Given the description of an element on the screen output the (x, y) to click on. 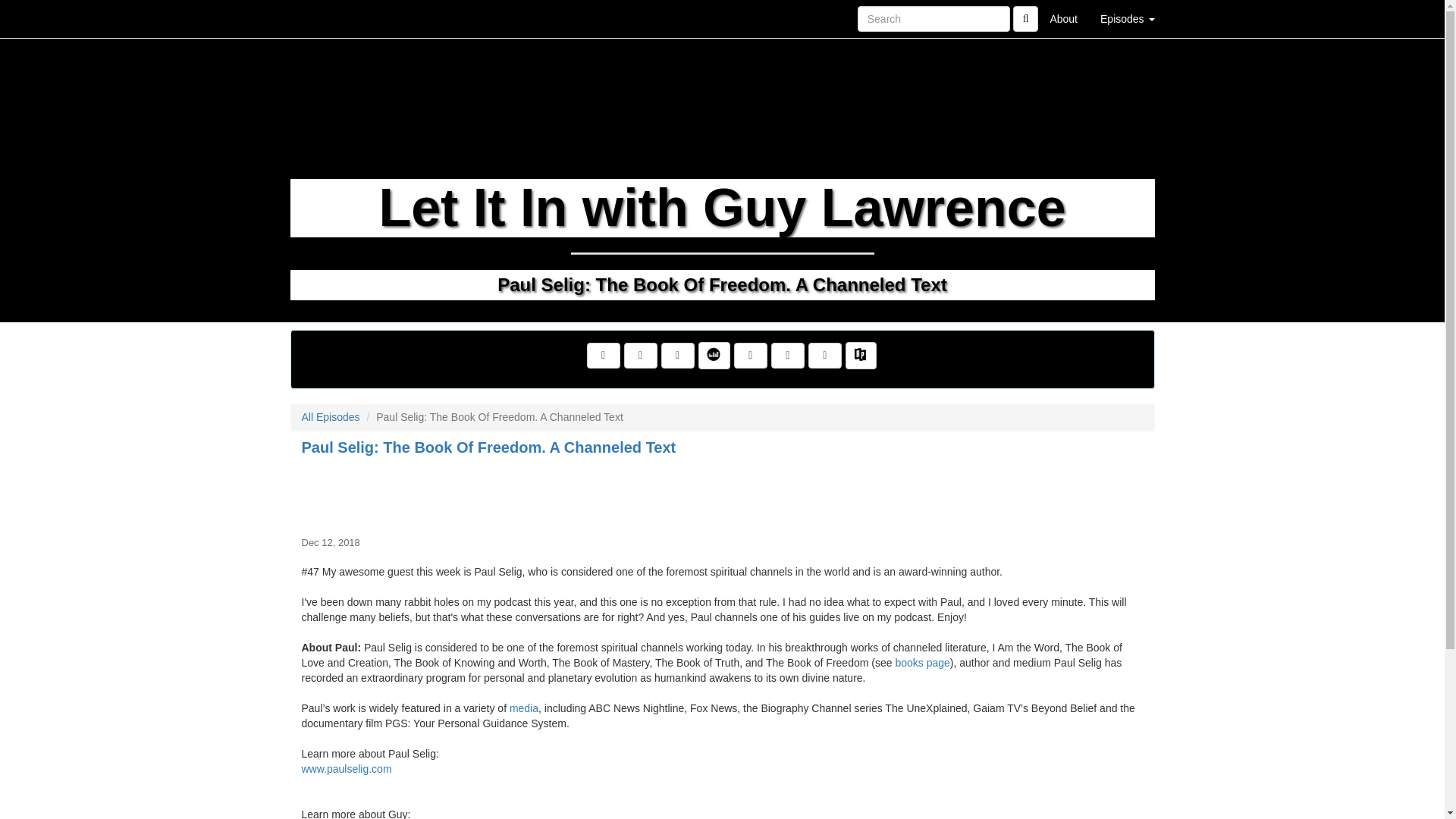
About (1063, 18)
Home Page (320, 18)
Paul Selig: The Book Of Freedom. A Channeled Text (721, 493)
Episodes (1127, 18)
